Given the description of an element on the screen output the (x, y) to click on. 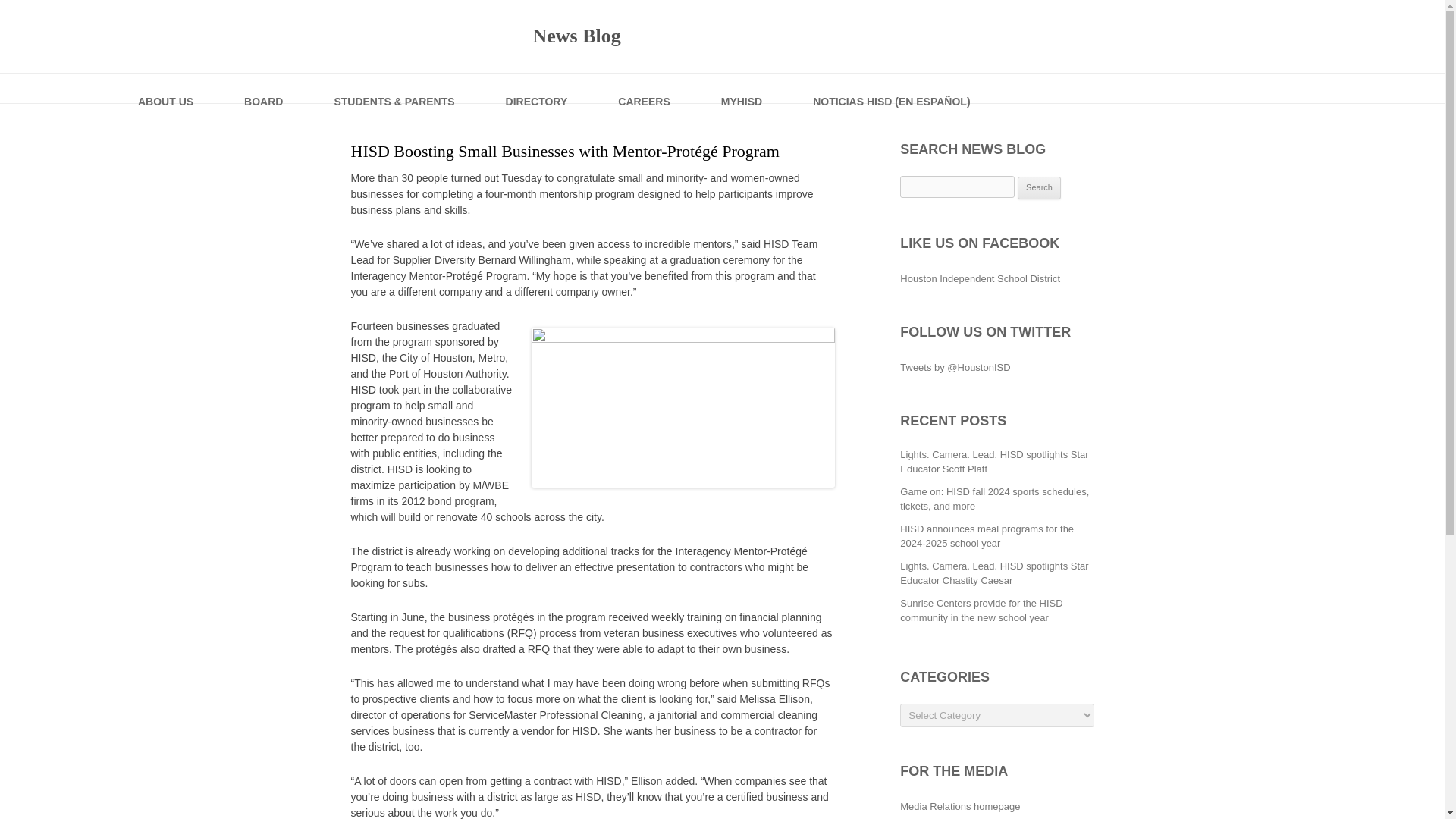
Search (1039, 187)
MYHISD (742, 88)
Game on: HISD fall 2024 sports schedules, tickets, and more (994, 499)
News Blog (485, 36)
CAREERS (644, 88)
DIRECTORY (537, 88)
Houston Independent School District (979, 278)
